Given the description of an element on the screen output the (x, y) to click on. 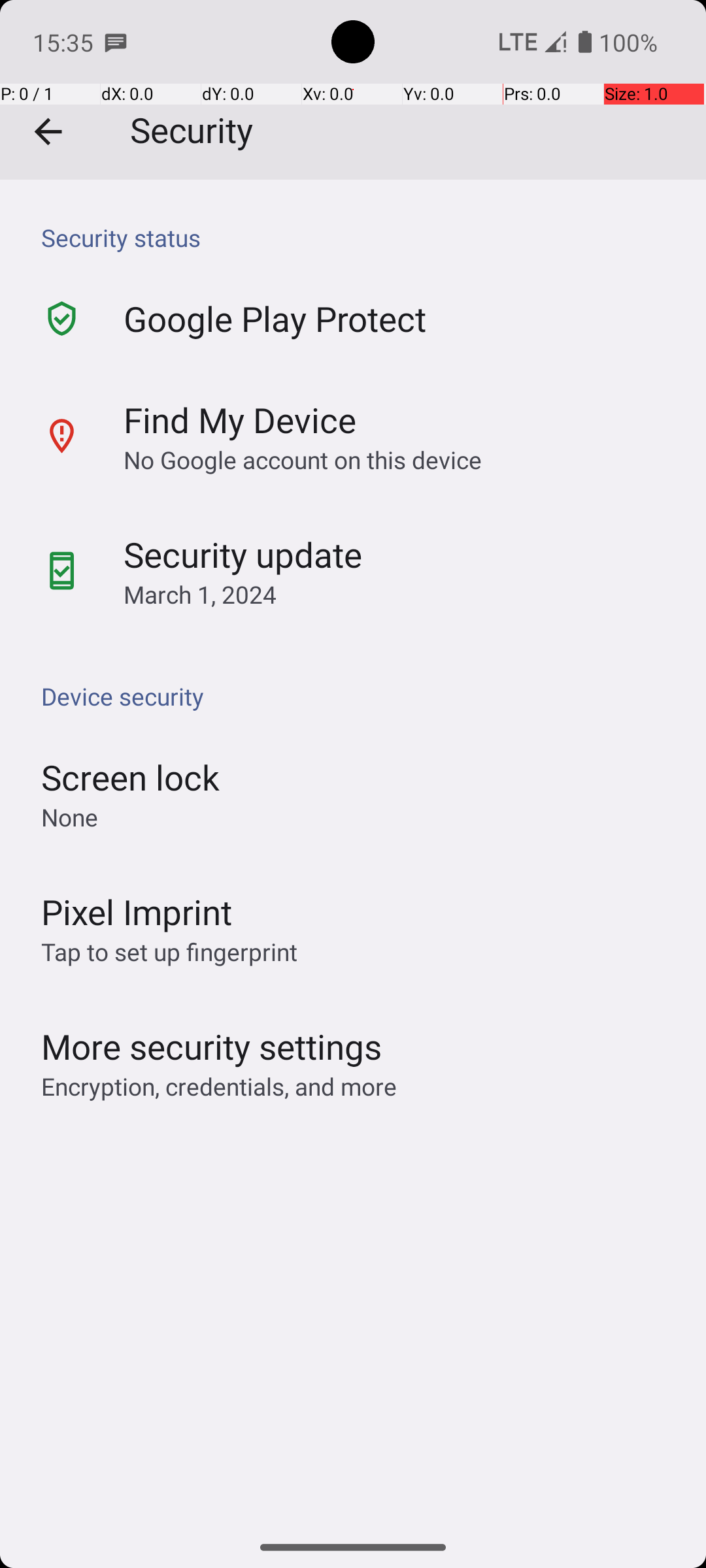
Security Element type: android.widget.FrameLayout (353, 89)
Security status Element type: android.widget.TextView (359, 237)
Google Play Protect Element type: android.widget.TextView (274, 318)
Find My Device Element type: android.widget.TextView (239, 419)
No Google account on this device Element type: android.widget.TextView (302, 459)
Security update Element type: android.widget.TextView (242, 554)
March 1, 2024 Element type: android.widget.TextView (199, 593)
Device security Element type: android.widget.TextView (359, 695)
Screen lock Element type: android.widget.TextView (130, 776)
Pixel Imprint Element type: android.widget.TextView (136, 911)
Tap to set up fingerprint Element type: android.widget.TextView (169, 951)
More security settings Element type: android.widget.TextView (211, 1046)
Encryption, credentials, and more Element type: android.widget.TextView (218, 1085)
